Given the description of an element on the screen output the (x, y) to click on. 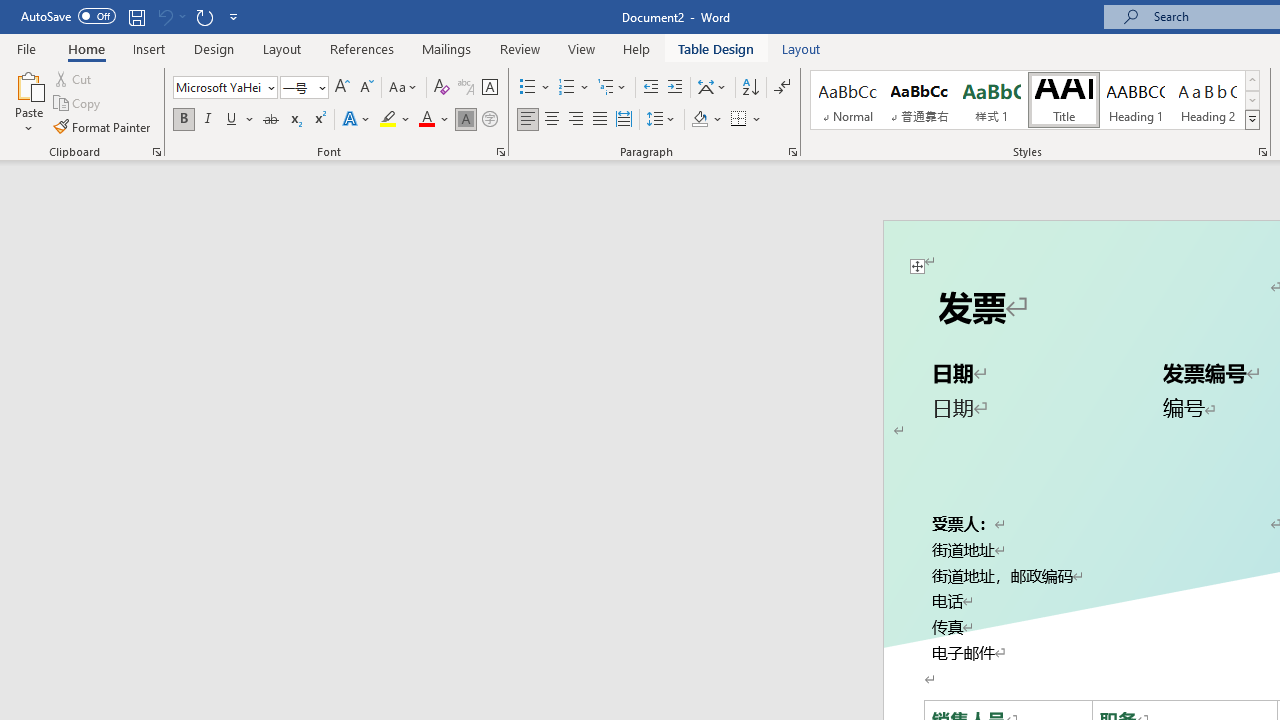
Heading 2 (1208, 100)
Font Color RGB(255, 0, 0) (426, 119)
